Given the description of an element on the screen output the (x, y) to click on. 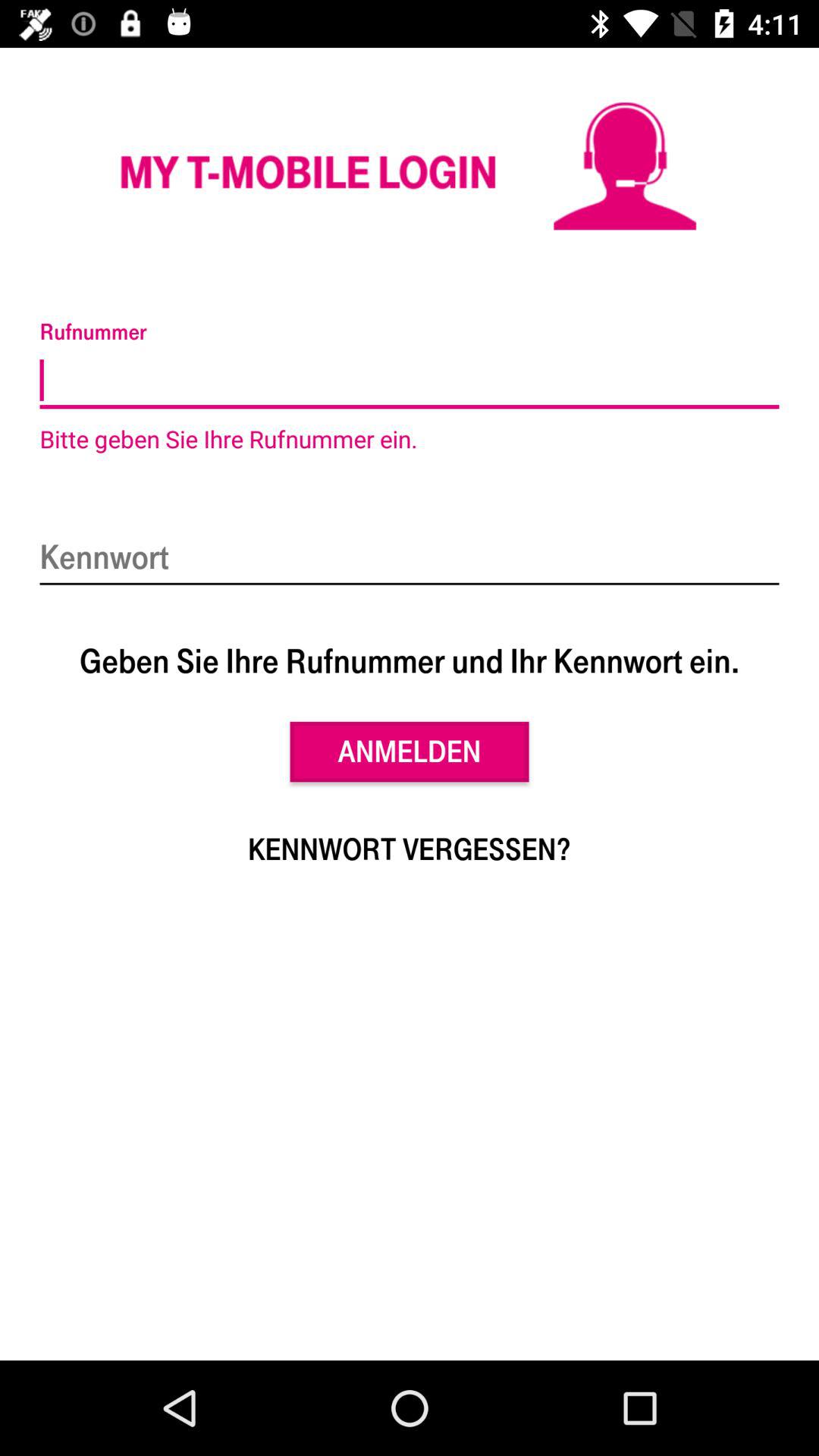
open app above bitte geben sie (409, 380)
